Given the description of an element on the screen output the (x, y) to click on. 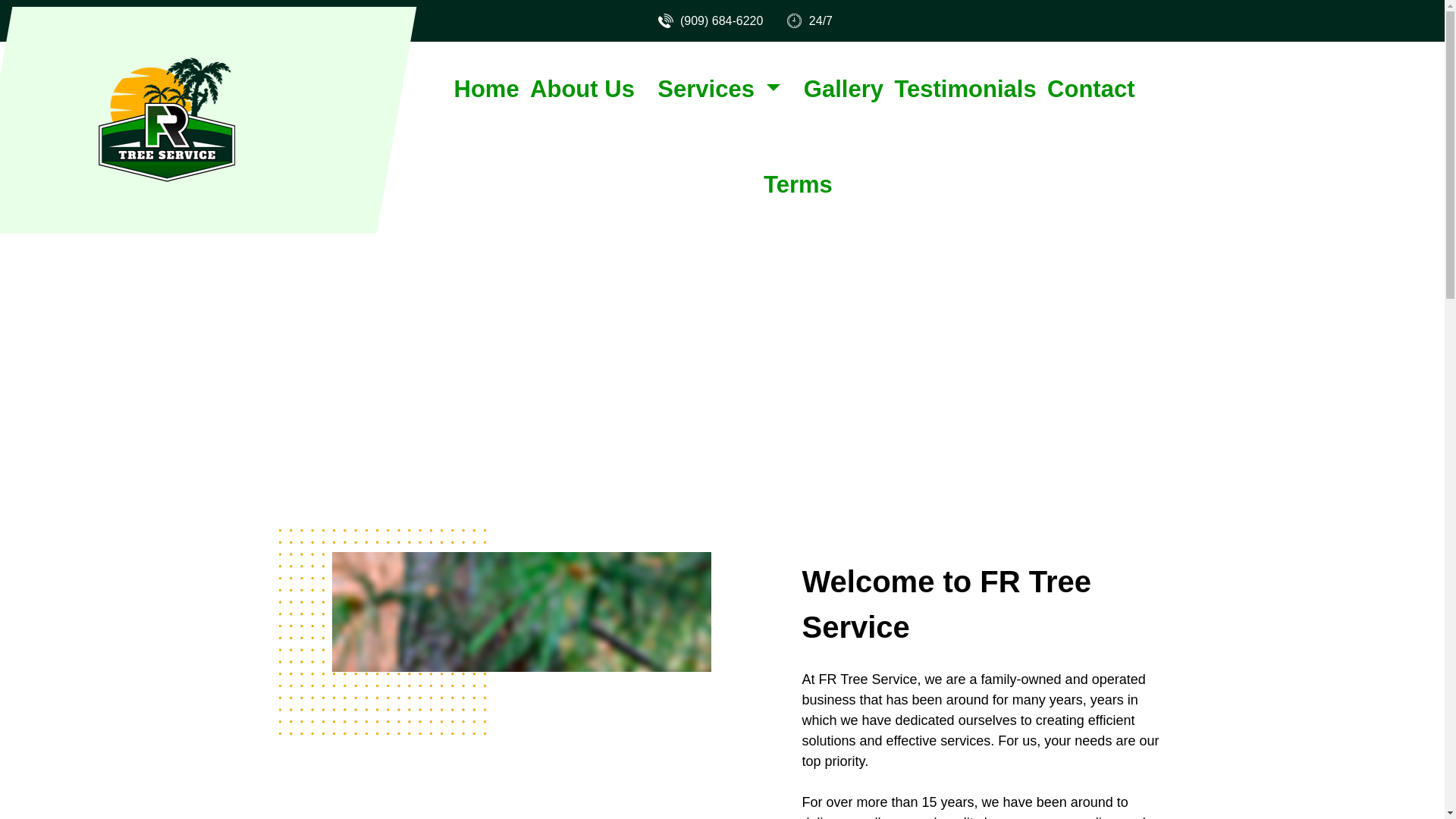
Testimonials (964, 89)
Contact (1090, 89)
Services (718, 89)
About Us (581, 89)
